Given the description of an element on the screen output the (x, y) to click on. 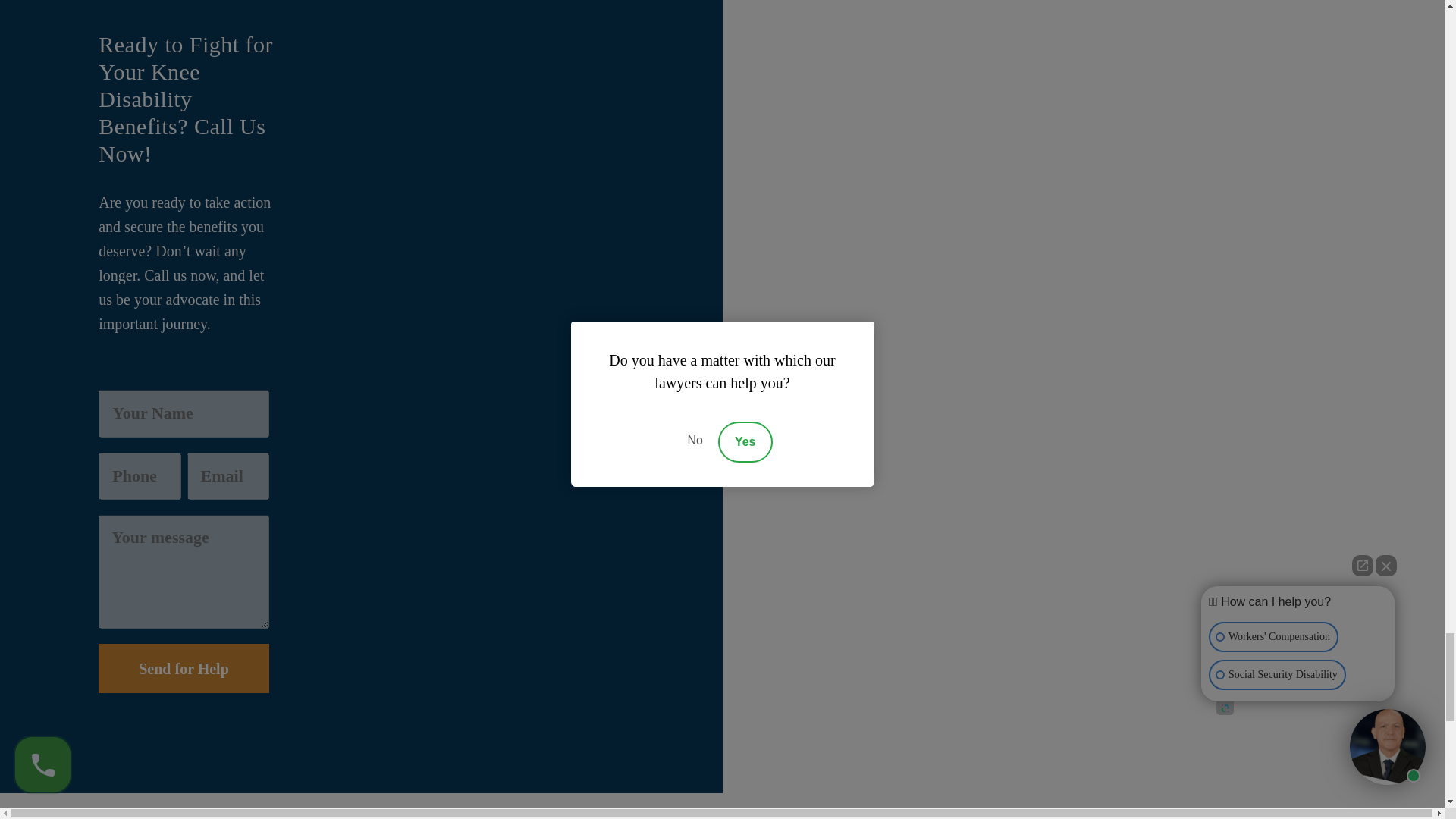
Send for Help (184, 667)
